Given the description of an element on the screen output the (x, y) to click on. 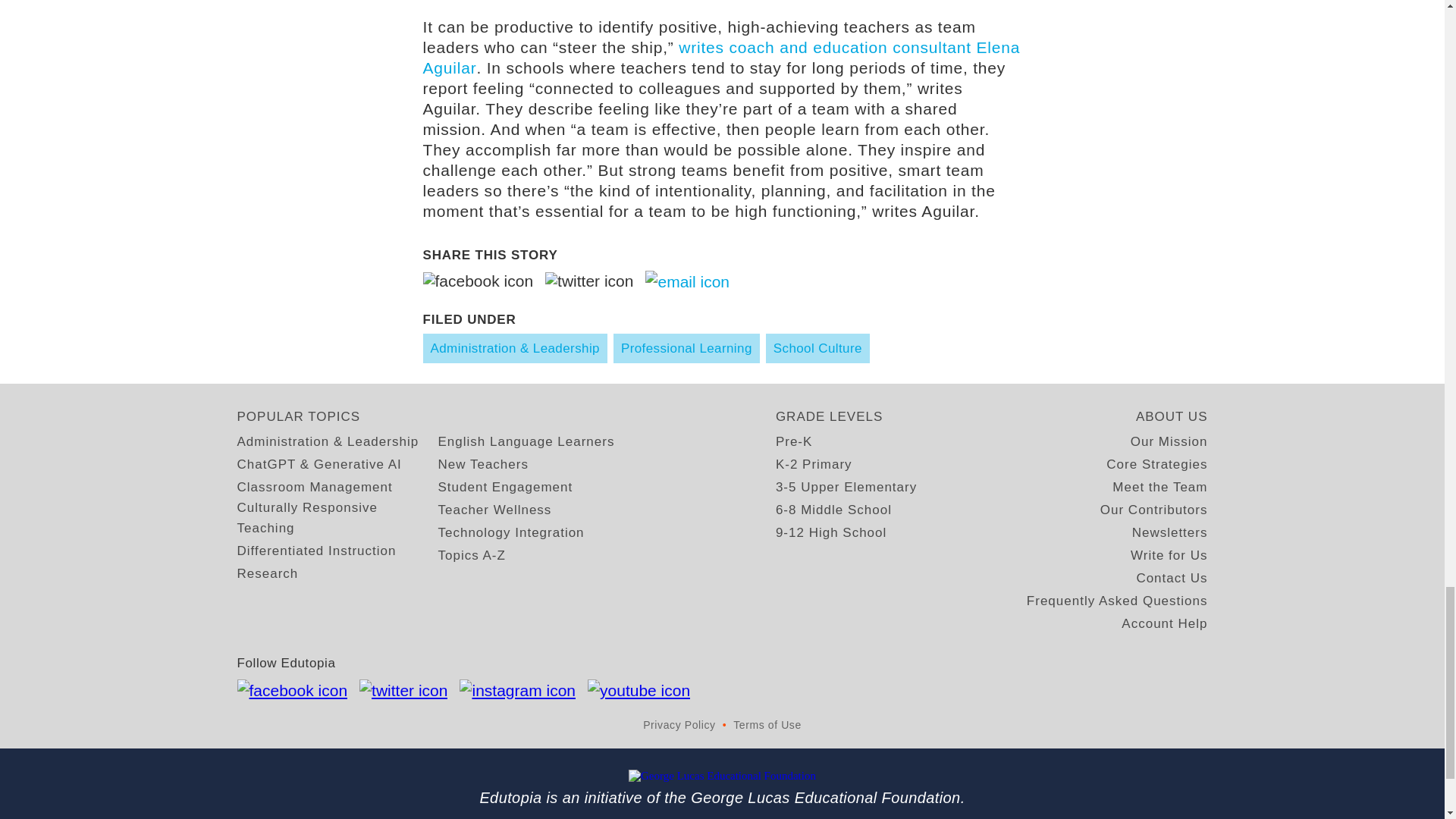
School Culture (817, 348)
Professional Learning (686, 348)
Research (266, 573)
Culturally Responsive Teaching (336, 517)
writes coach and education consultant Elena Aguilar (721, 57)
English Language Learners (526, 441)
Differentiated Instruction (315, 550)
Classroom Management (313, 486)
